Given the description of an element on the screen output the (x, y) to click on. 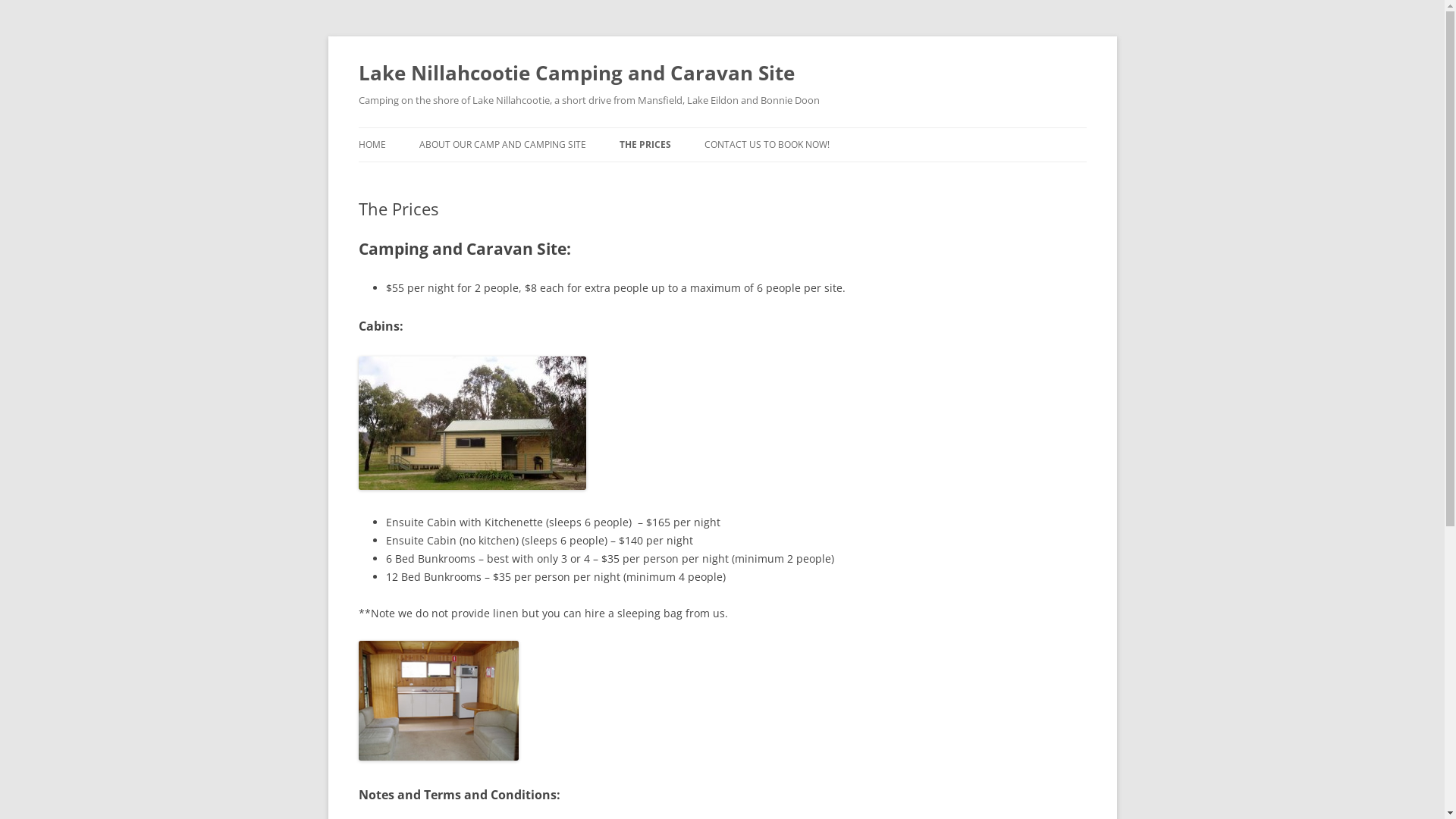
CONTACT US TO BOOK NOW! Element type: text (765, 144)
HOME Element type: text (371, 144)
ABOUT OUR CAMP AND CAMPING SITE Element type: text (501, 144)
THE PRICES Element type: text (644, 144)
Lake Nillahcootie Camping and Caravan Site Element type: text (575, 72)
Skip to content Element type: text (721, 127)
